Given the description of an element on the screen output the (x, y) to click on. 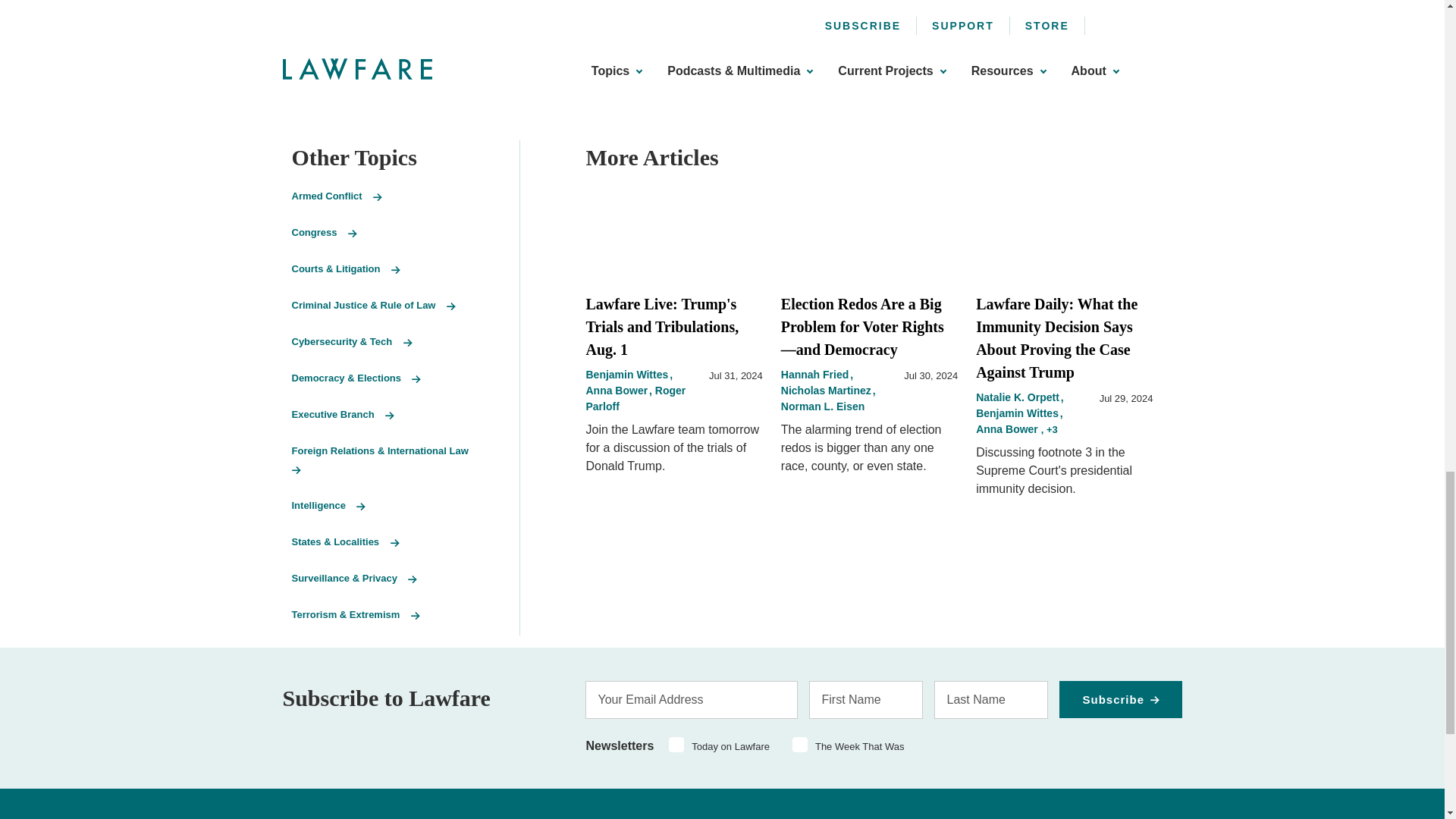
4 (800, 744)
1 (676, 744)
